Given the description of an element on the screen output the (x, y) to click on. 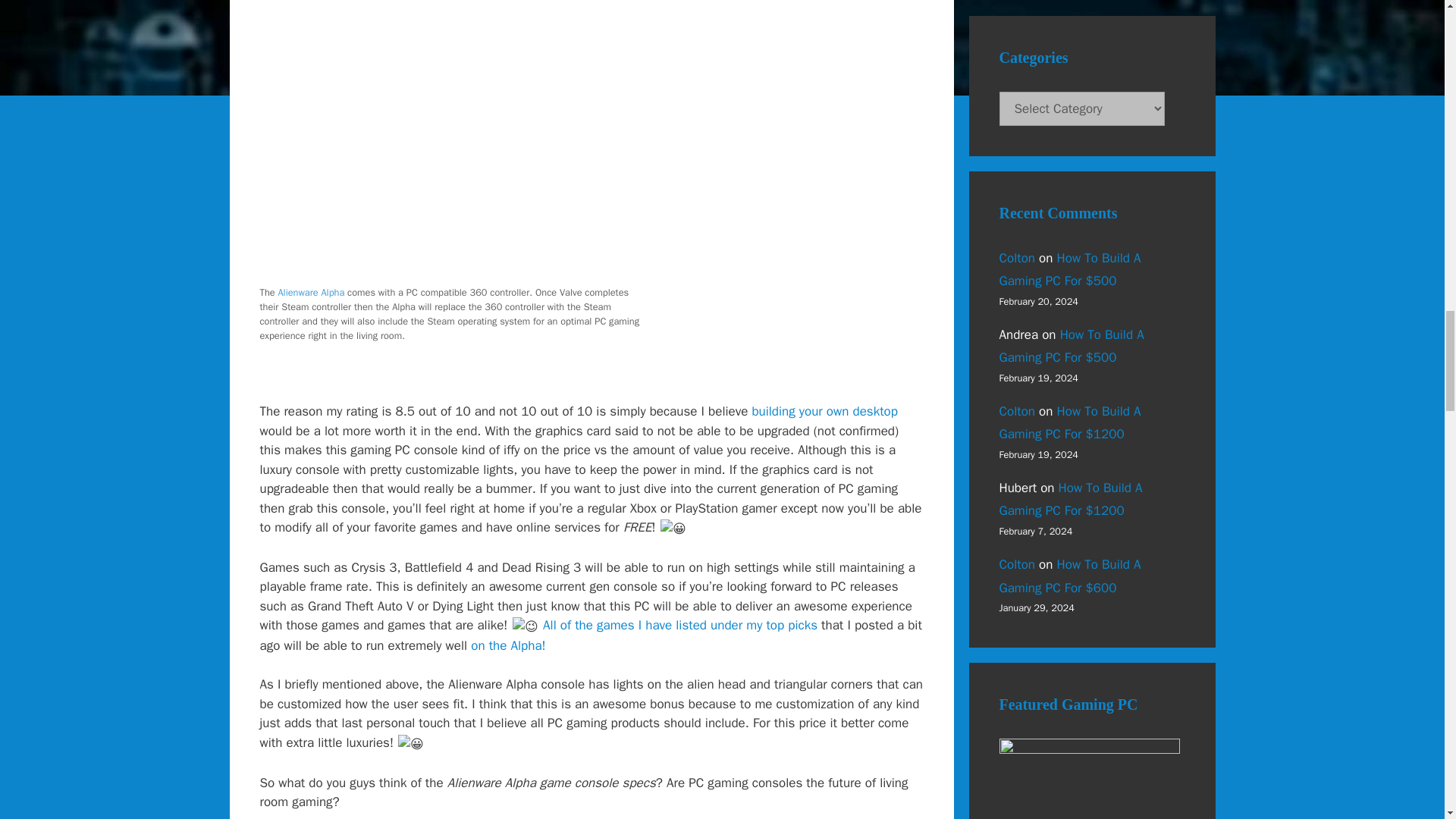
All of the games I have listed under my top picks (679, 625)
Alienware Alpha (310, 292)
How To Build Your PC (824, 411)
building your own desktop (824, 411)
